Given the description of an element on the screen output the (x, y) to click on. 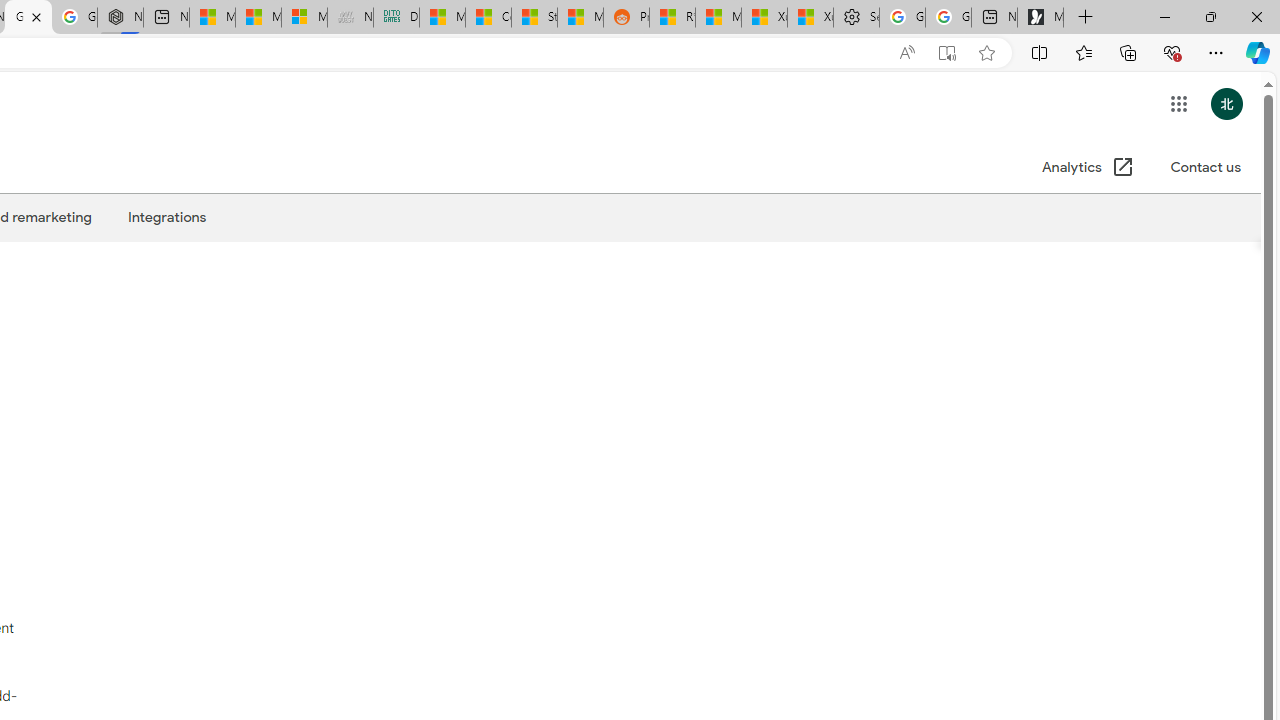
Analytics (Open in a new window) (1088, 168)
Class: gb_E (1178, 103)
Navy Quest (349, 17)
Nordace - Nordace Siena Is Not An Ordinary Backpack (120, 17)
